Given the description of an element on the screen output the (x, y) to click on. 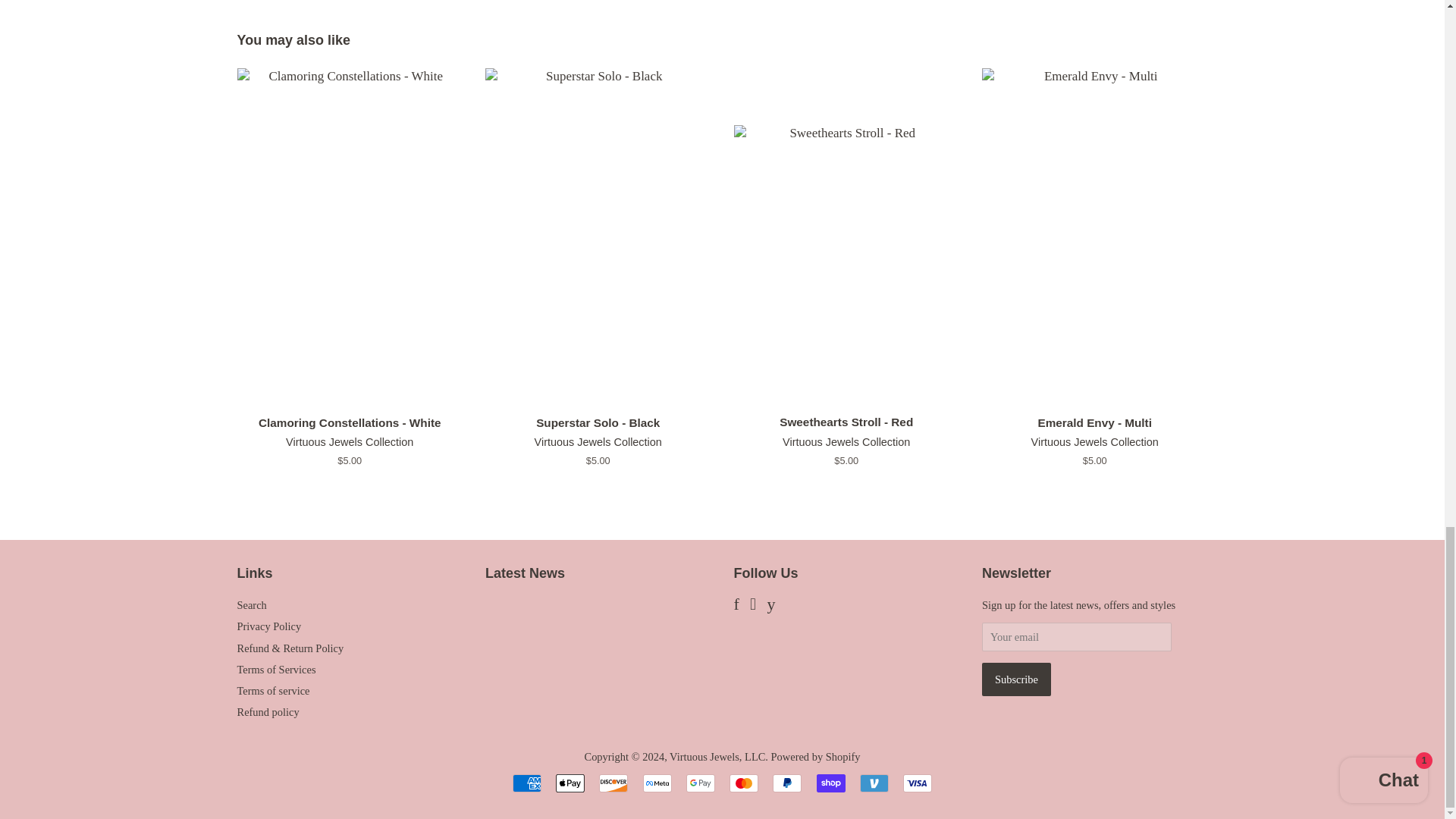
Visa (916, 782)
PayPal (787, 782)
Mastercard (743, 782)
Shop Pay (830, 782)
Venmo (874, 782)
Google Pay (699, 782)
Meta Pay (657, 782)
American Express (526, 782)
Subscribe (1016, 679)
Discover (612, 782)
Apple Pay (570, 782)
